Given the description of an element on the screen output the (x, y) to click on. 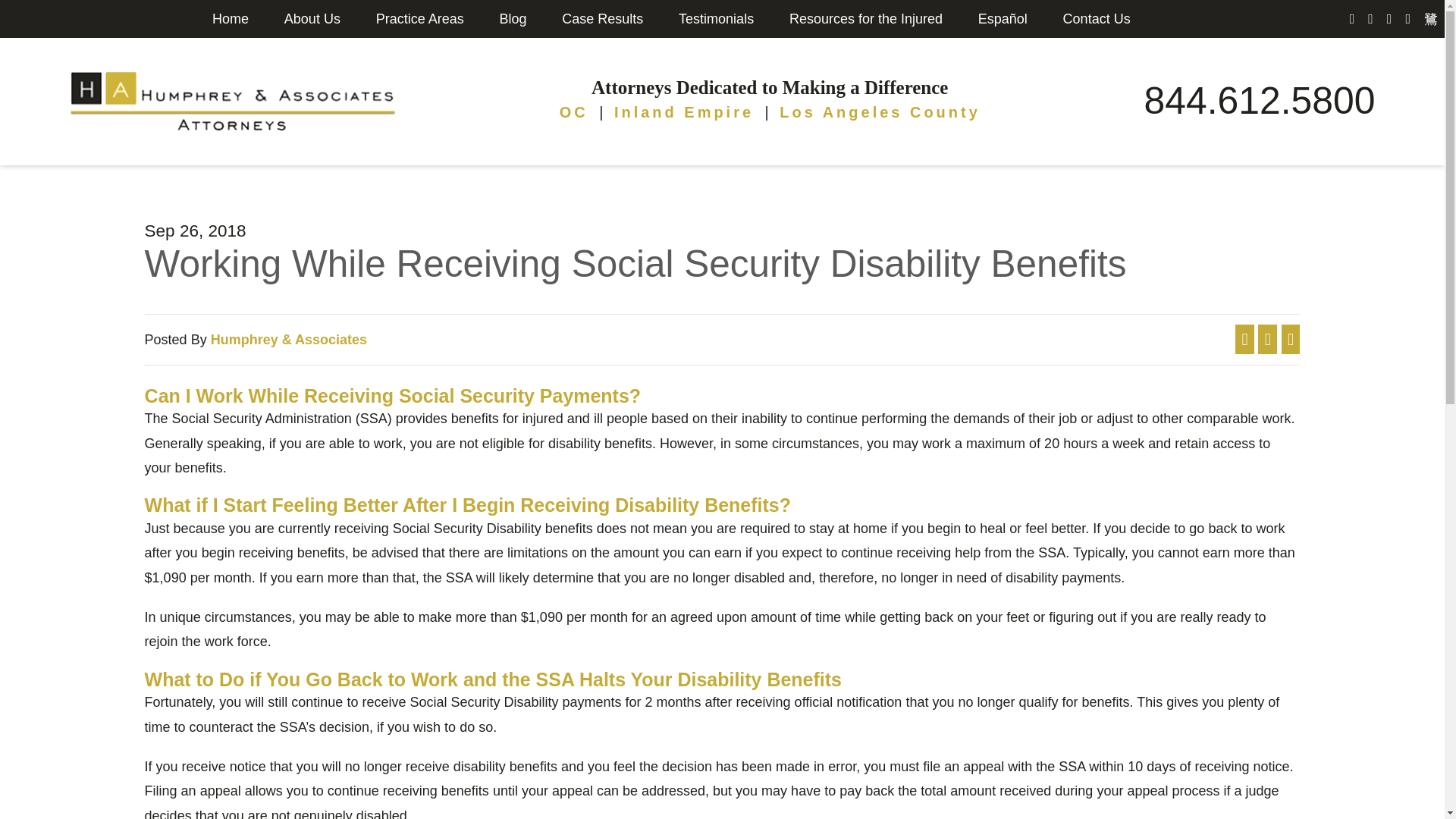
About Us (312, 18)
Practice Areas (419, 18)
Case Results (602, 18)
Resources for the Injured (865, 18)
Testimonials (716, 18)
Home (230, 18)
Blog (512, 18)
